Given the description of an element on the screen output the (x, y) to click on. 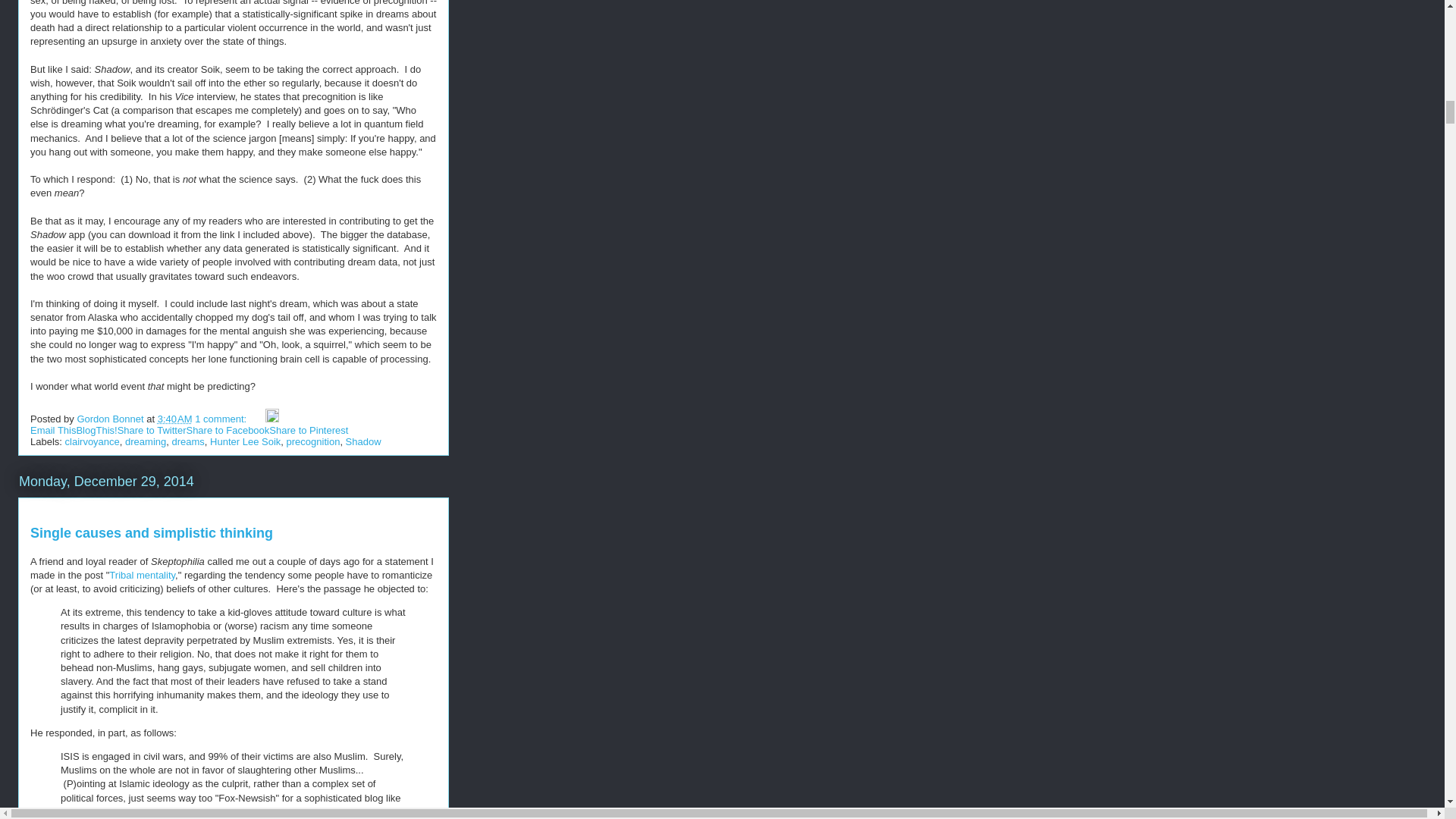
Edit Post (271, 419)
Email This (52, 430)
Email Post (257, 419)
author profile (112, 419)
permanent link (174, 419)
